Given the description of an element on the screen output the (x, y) to click on. 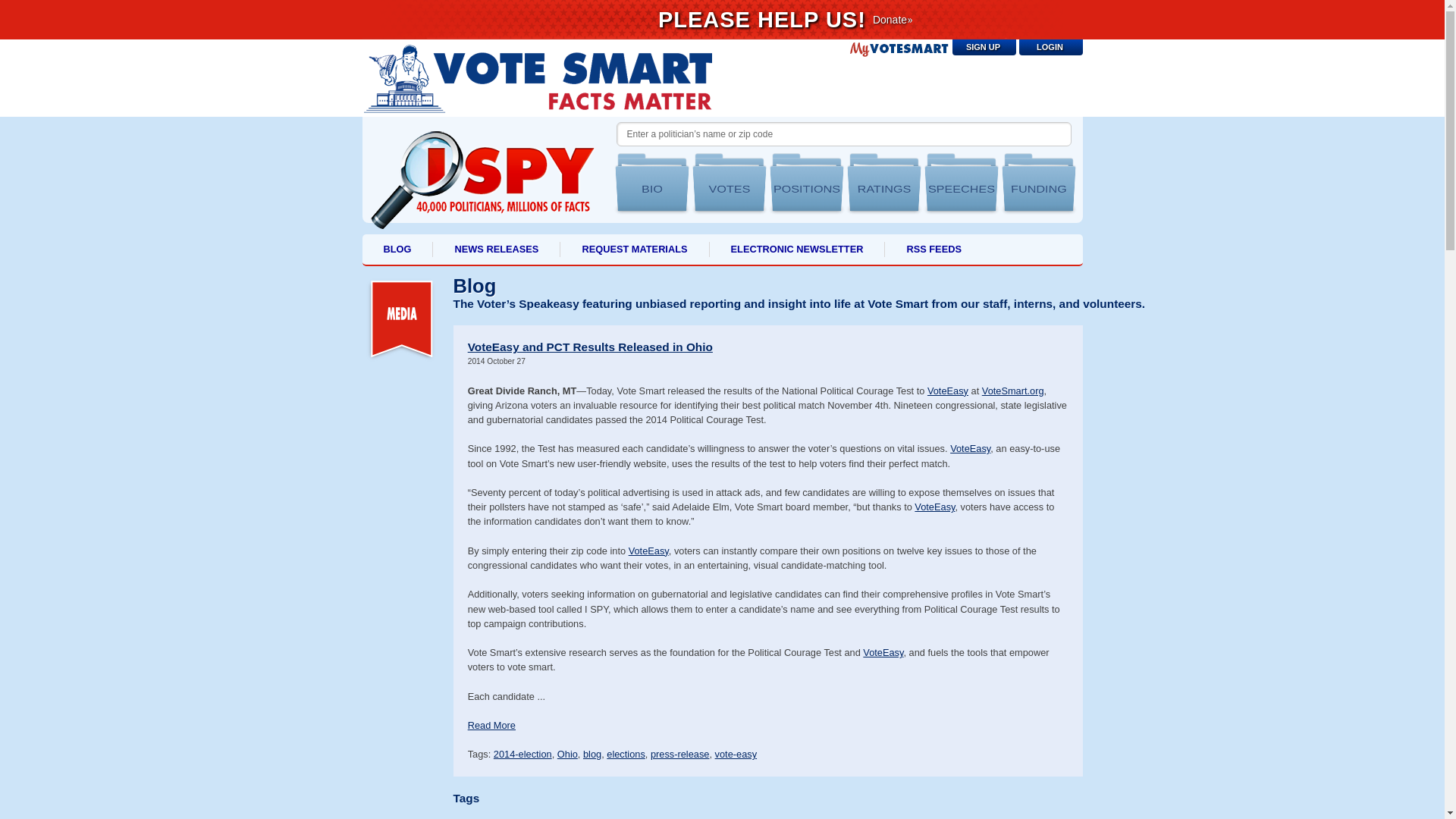
Ohio (567, 754)
VoteEasy (648, 550)
elections (626, 754)
PLEASE HELP US! Donate (722, 19)
NEWS RELEASES (496, 249)
LOGIN (1051, 47)
VoteEasy (934, 506)
press-release (680, 754)
Vote Smart Just The Facts (536, 78)
View this post (491, 725)
